Given the description of an element on the screen output the (x, y) to click on. 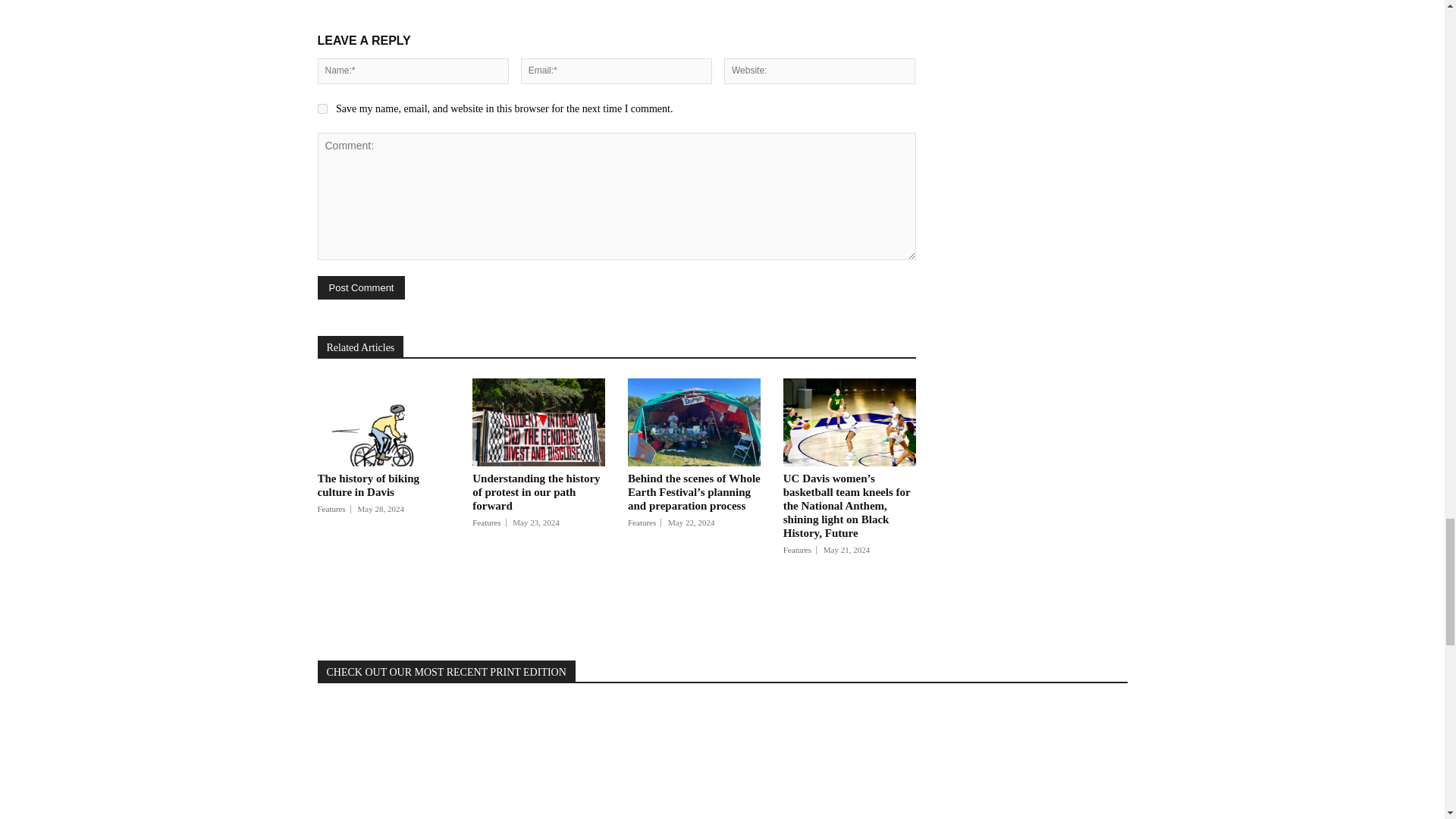
Post Comment (360, 287)
yes (321, 108)
